Given the description of an element on the screen output the (x, y) to click on. 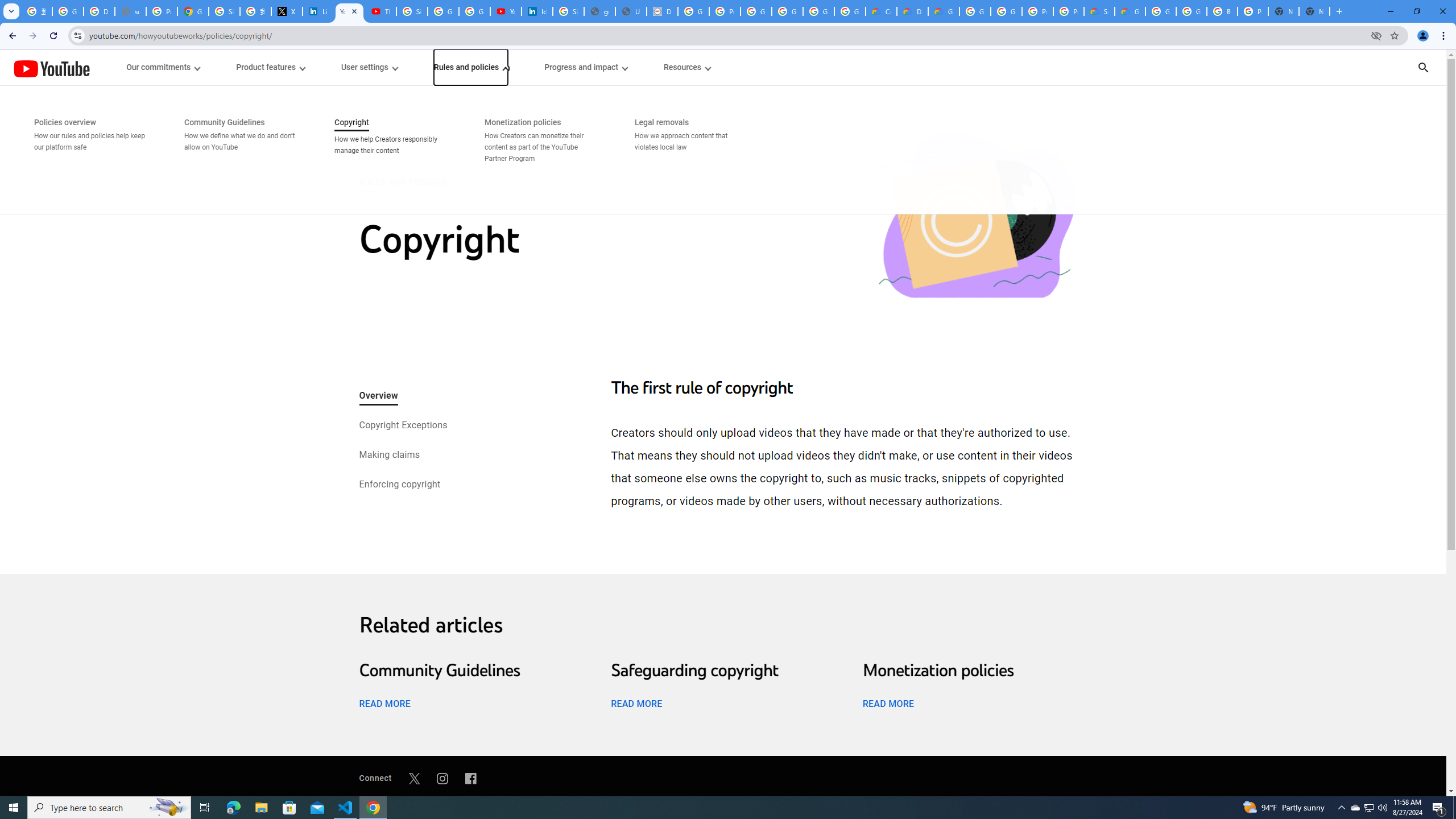
google_privacy_policy_en.pdf (599, 11)
Progress and impact menupopup (585, 67)
Google Cloud Service Health (1129, 11)
Sign in - Google Accounts (411, 11)
YouTube Copyright Rules & Policies - How YouTube Works (349, 11)
Gemini for Business and Developers | Google Cloud (943, 11)
YouTube (51, 68)
